Given the description of an element on the screen output the (x, y) to click on. 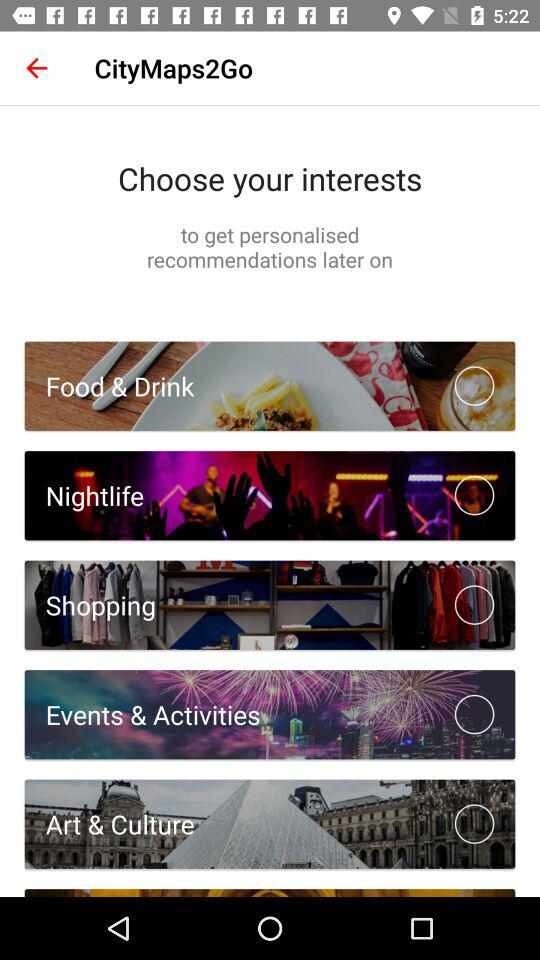
press item next to citymaps2go (36, 68)
